Given the description of an element on the screen output the (x, y) to click on. 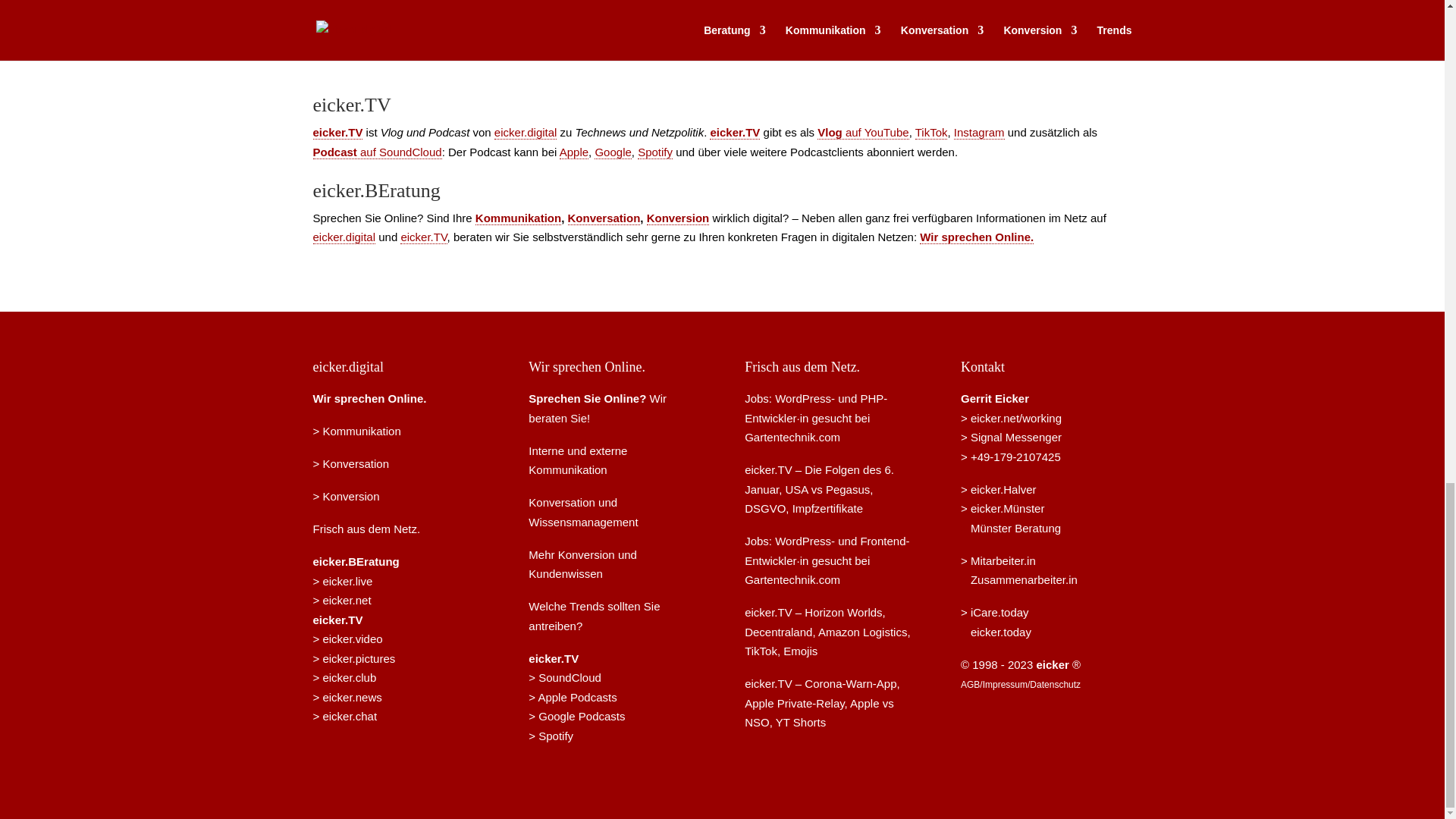
Kommunikationsberatung (518, 218)
Konversionsberatung (345, 495)
Konversationsberatung (603, 218)
Konversationsberatung (350, 463)
Trends. Frisch aus dem Netz. (366, 528)
eicker.BEratung: Wir sprechen Online. (369, 398)
eicker.TV (735, 132)
Kommunikationsberatung (356, 431)
Konversionsberatung (678, 218)
